Given the description of an element on the screen output the (x, y) to click on. 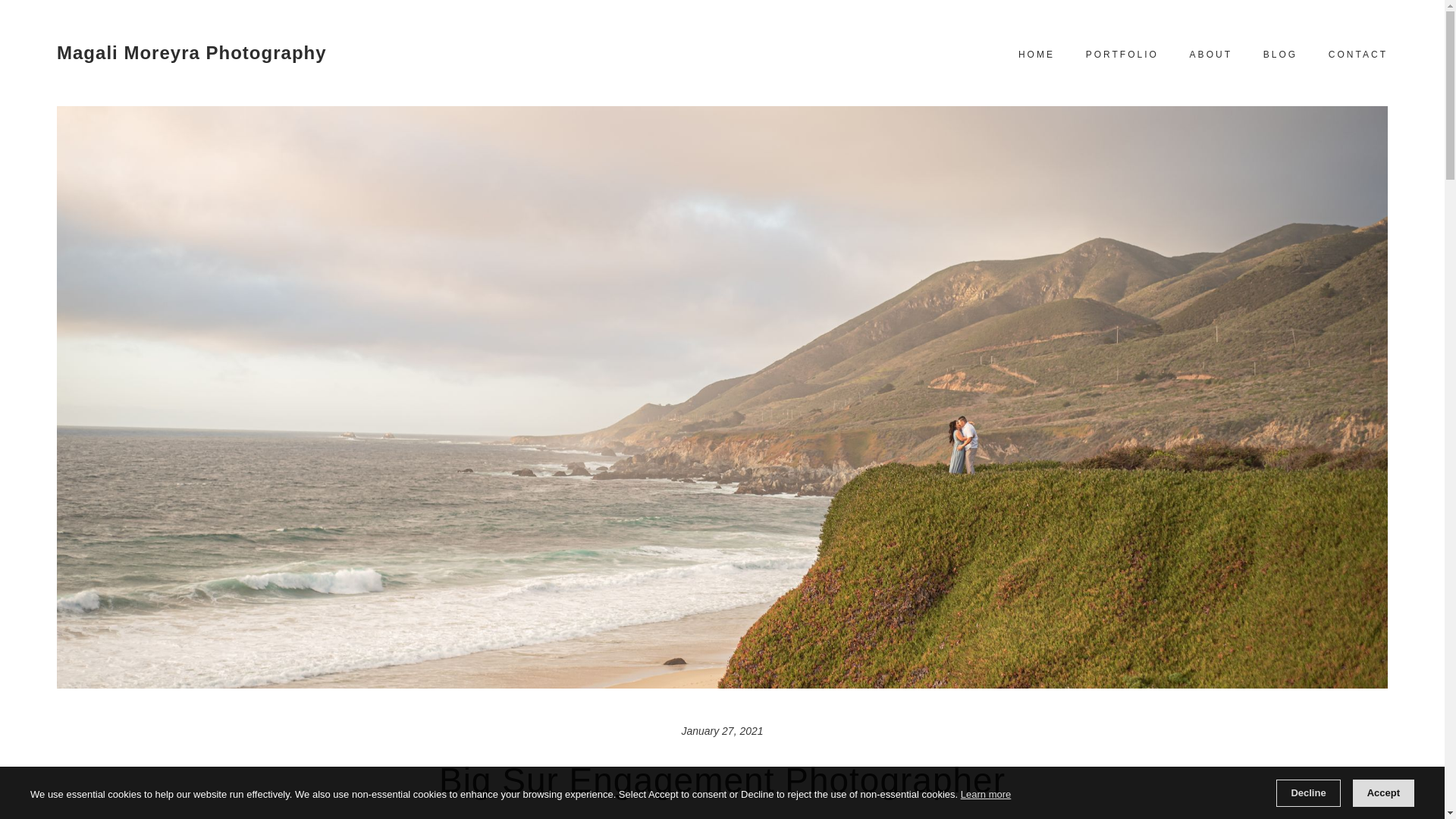
Magali Moreyra Photography (191, 52)
BLOG (1279, 54)
ABOUT (1210, 54)
CONTACT (1357, 54)
PORTFOLIO (1122, 54)
HOME (1037, 54)
Decline (1307, 792)
Accept (1382, 792)
Learn more (985, 793)
